Given the description of an element on the screen output the (x, y) to click on. 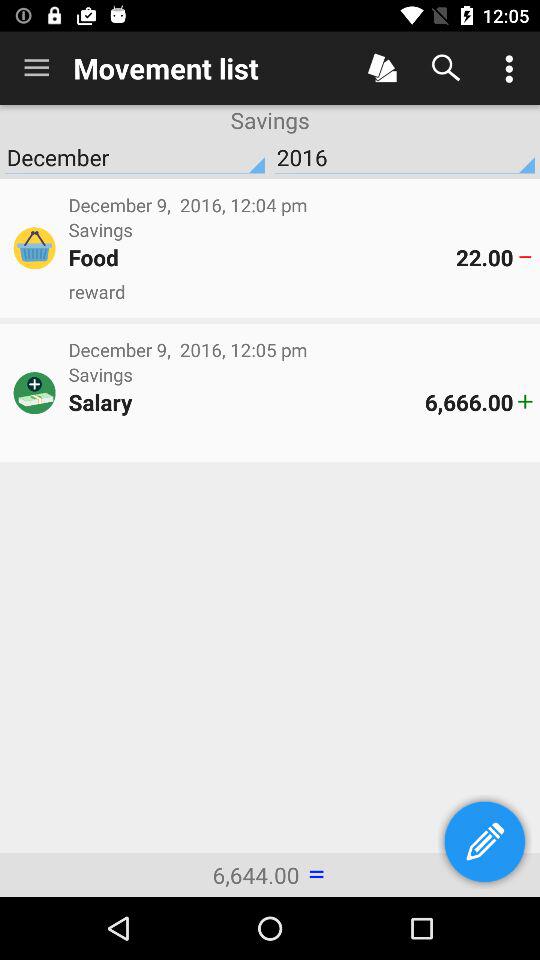
choose the icon below the food icon (300, 291)
